Given the description of an element on the screen output the (x, y) to click on. 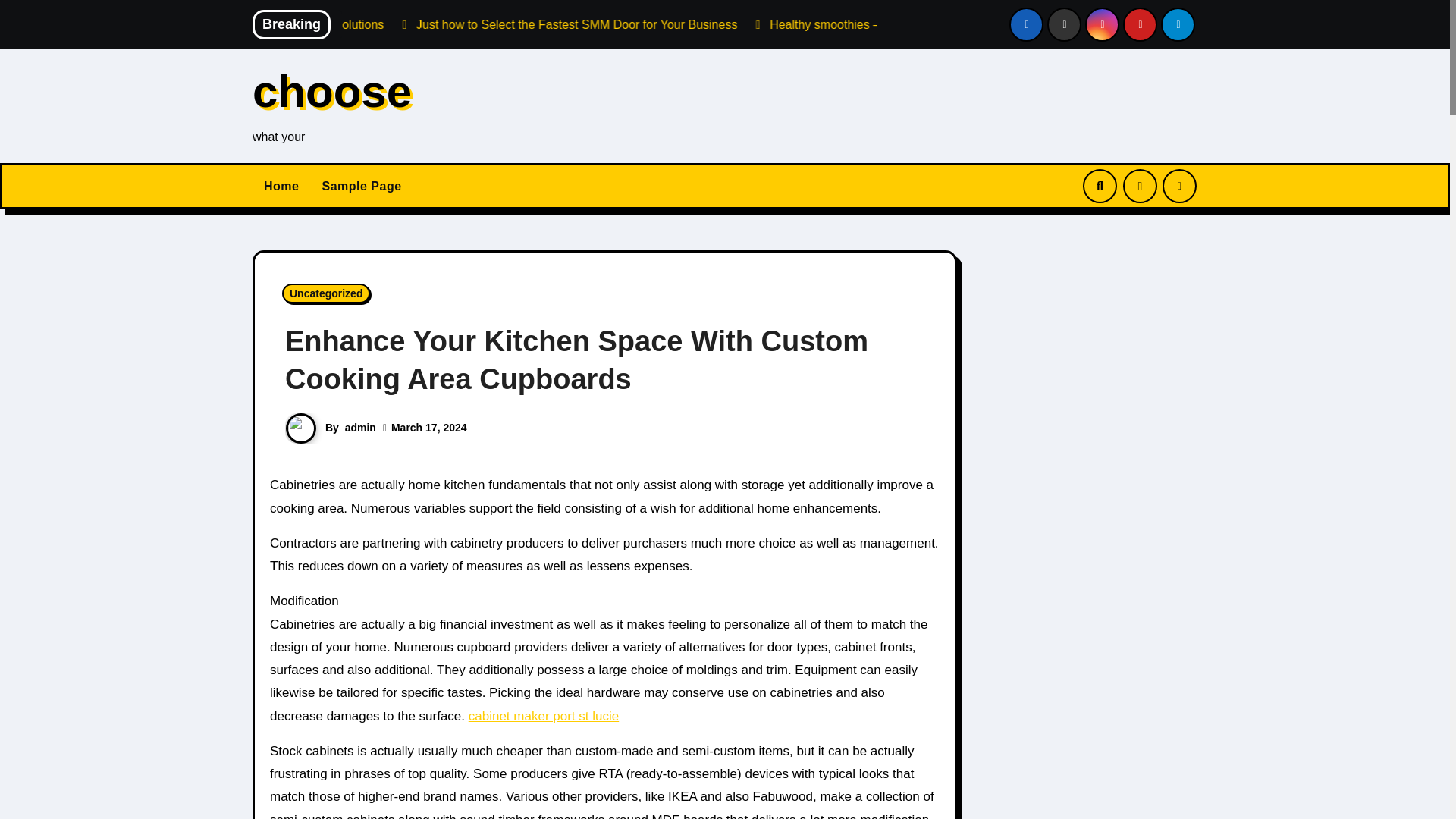
March 17, 2024 (429, 427)
Just how to Select the Fastest SMM Door for Your Business (775, 24)
Home (280, 187)
Sample Page (361, 187)
choose (331, 91)
Home (280, 187)
Computer Solutions Supplies a Large Variety of IT Solutions (422, 24)
admin (360, 427)
cabinet maker port st lucie (543, 715)
Uncategorized (325, 293)
